Given the description of an element on the screen output the (x, y) to click on. 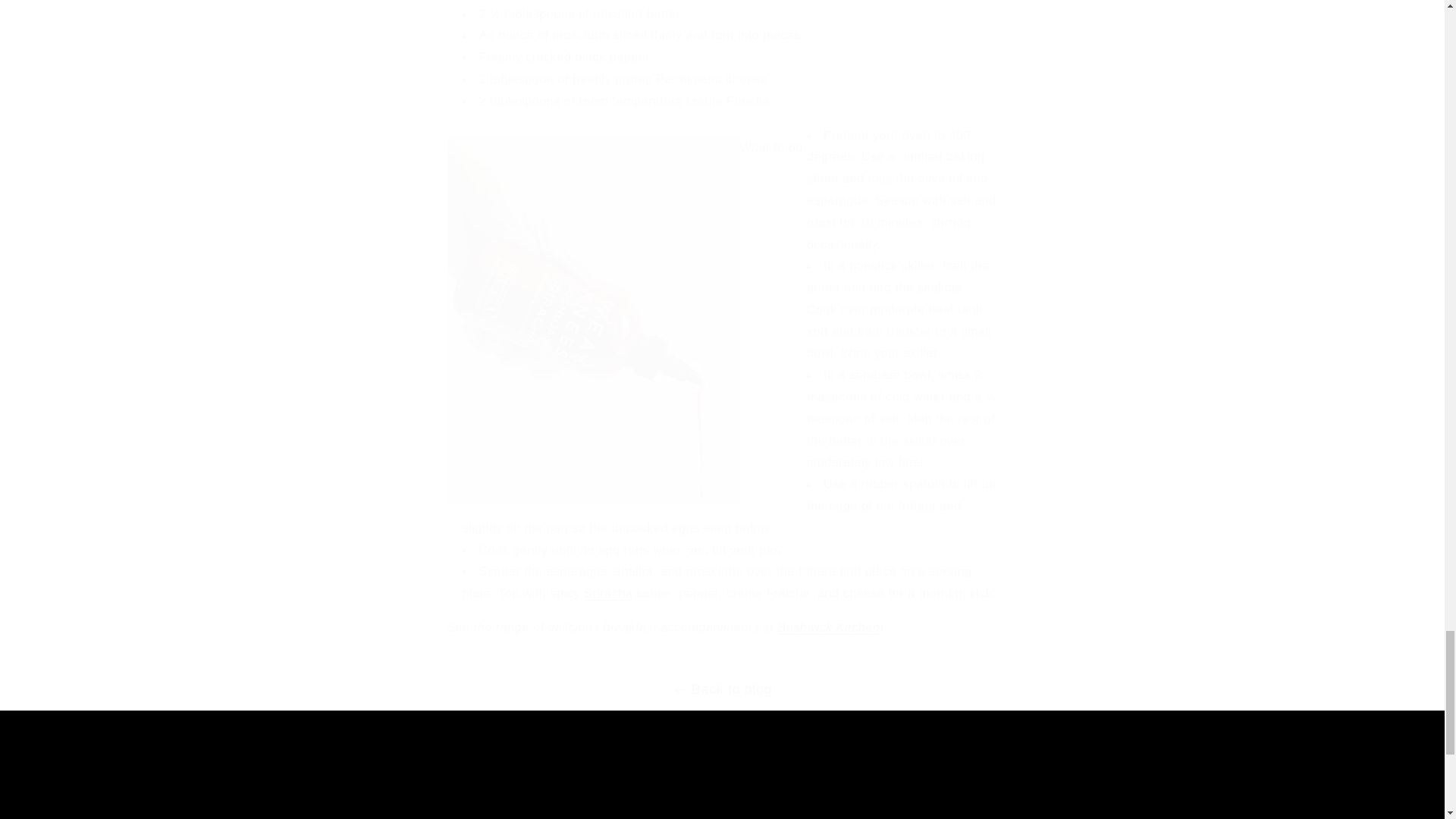
Bushwick Kitchen (828, 626)
Sriracha (722, 793)
